Given the description of an element on the screen output the (x, y) to click on. 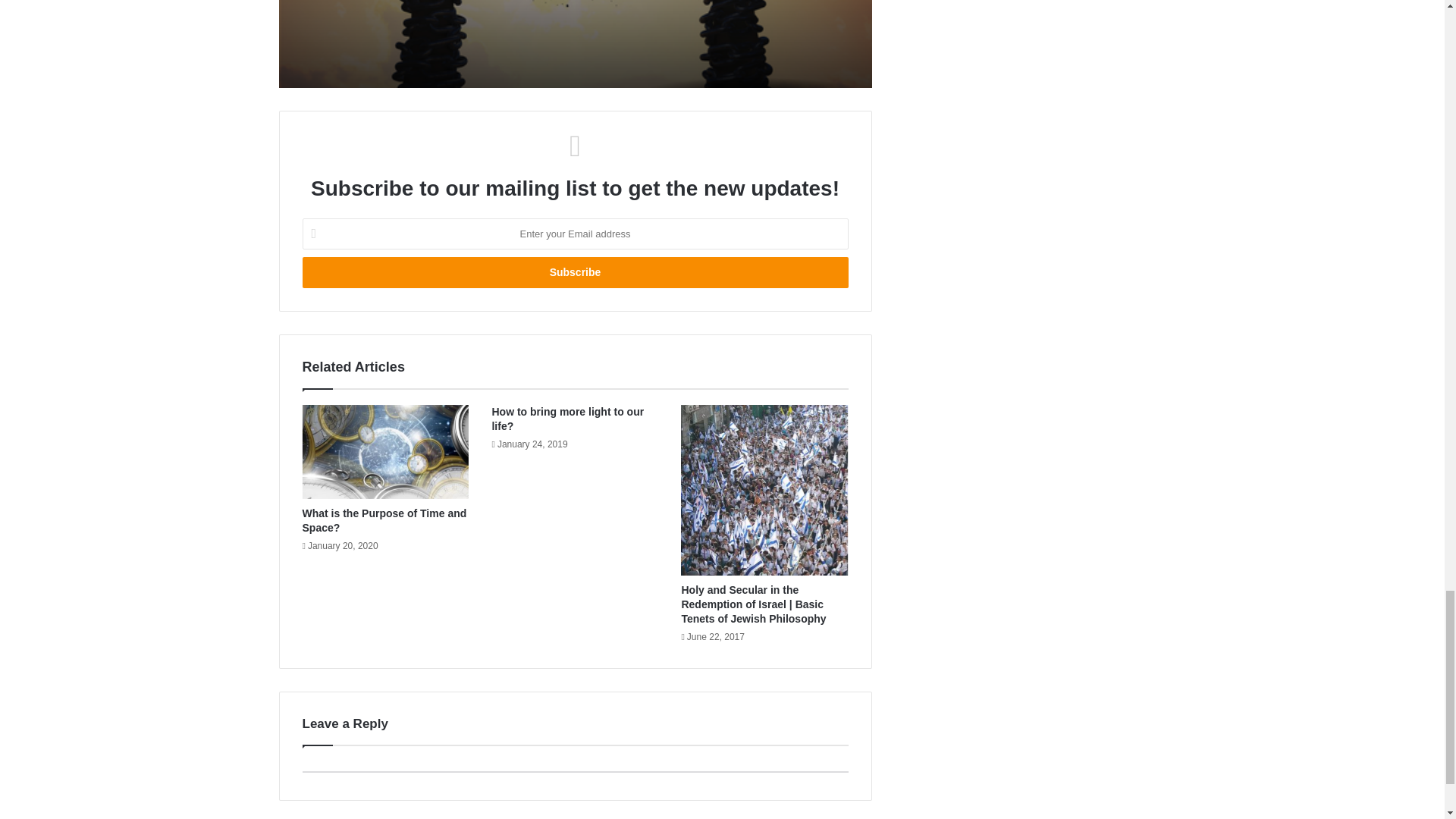
Subscribe (574, 272)
